Given the description of an element on the screen output the (x, y) to click on. 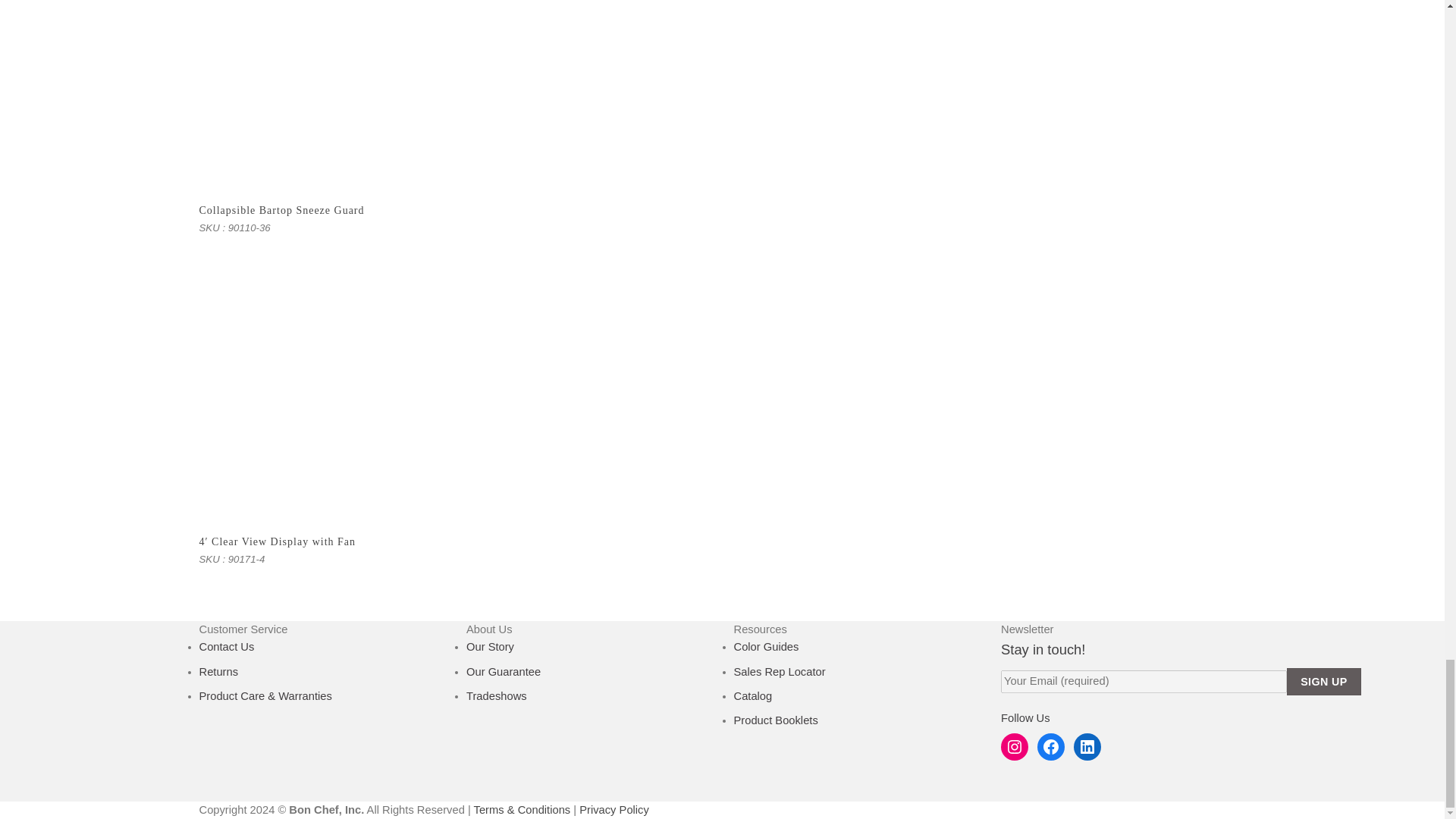
Sign Up (1324, 681)
